Given the description of an element on the screen output the (x, y) to click on. 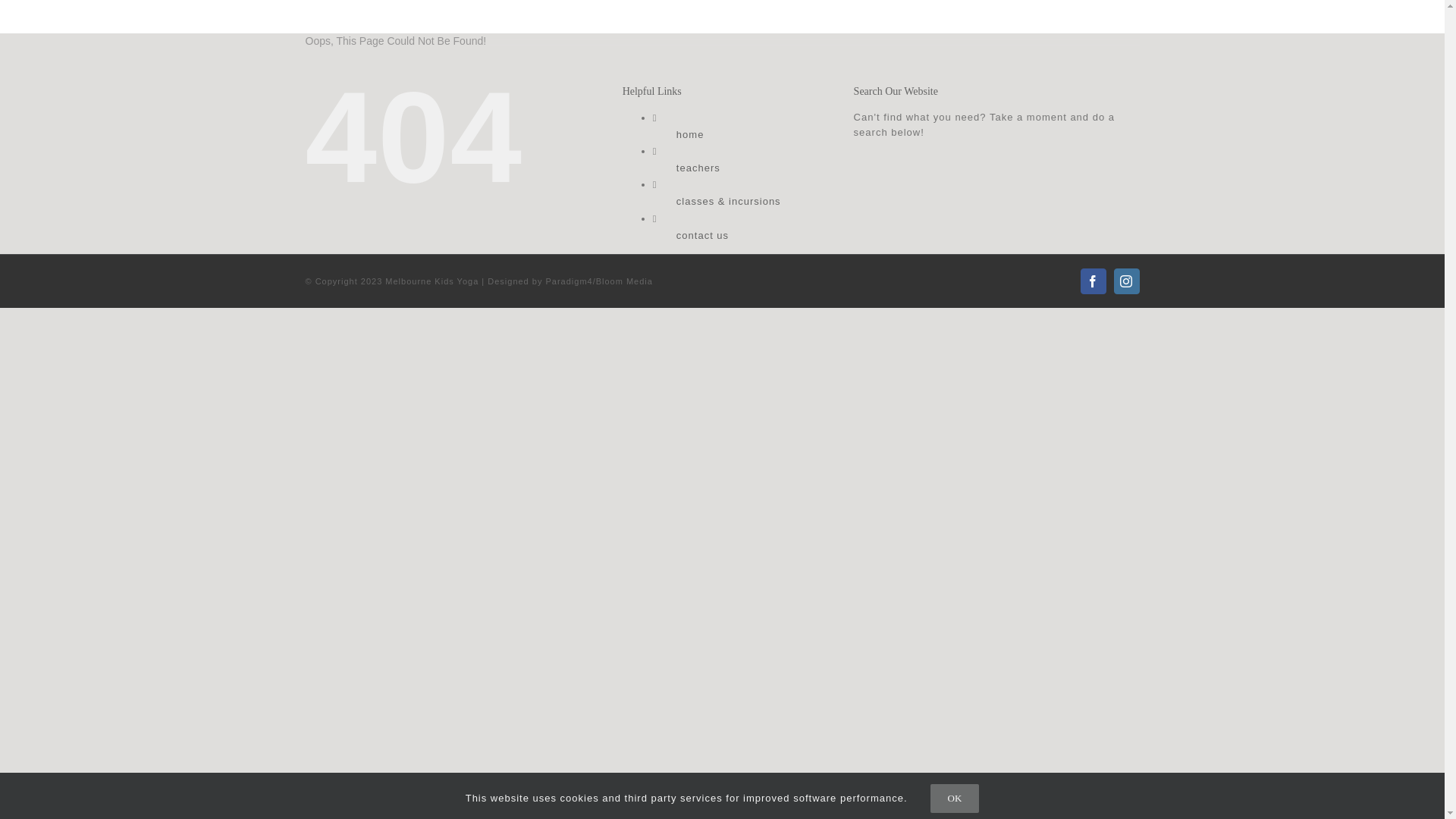
Instagram Element type: text (1126, 281)
contact us Element type: text (702, 235)
home Element type: text (690, 134)
home Element type: text (1077, 15)
classes & incursions Element type: text (728, 201)
OK Element type: text (954, 798)
Facebook Element type: text (1092, 281)
teachers Element type: text (698, 167)
Designed by Paradigm4/Bloom Media Element type: text (569, 280)
teachers Element type: text (1134, 15)
contact us Element type: text (1336, 15)
classes & incursions Element type: text (1233, 15)
